Given the description of an element on the screen output the (x, y) to click on. 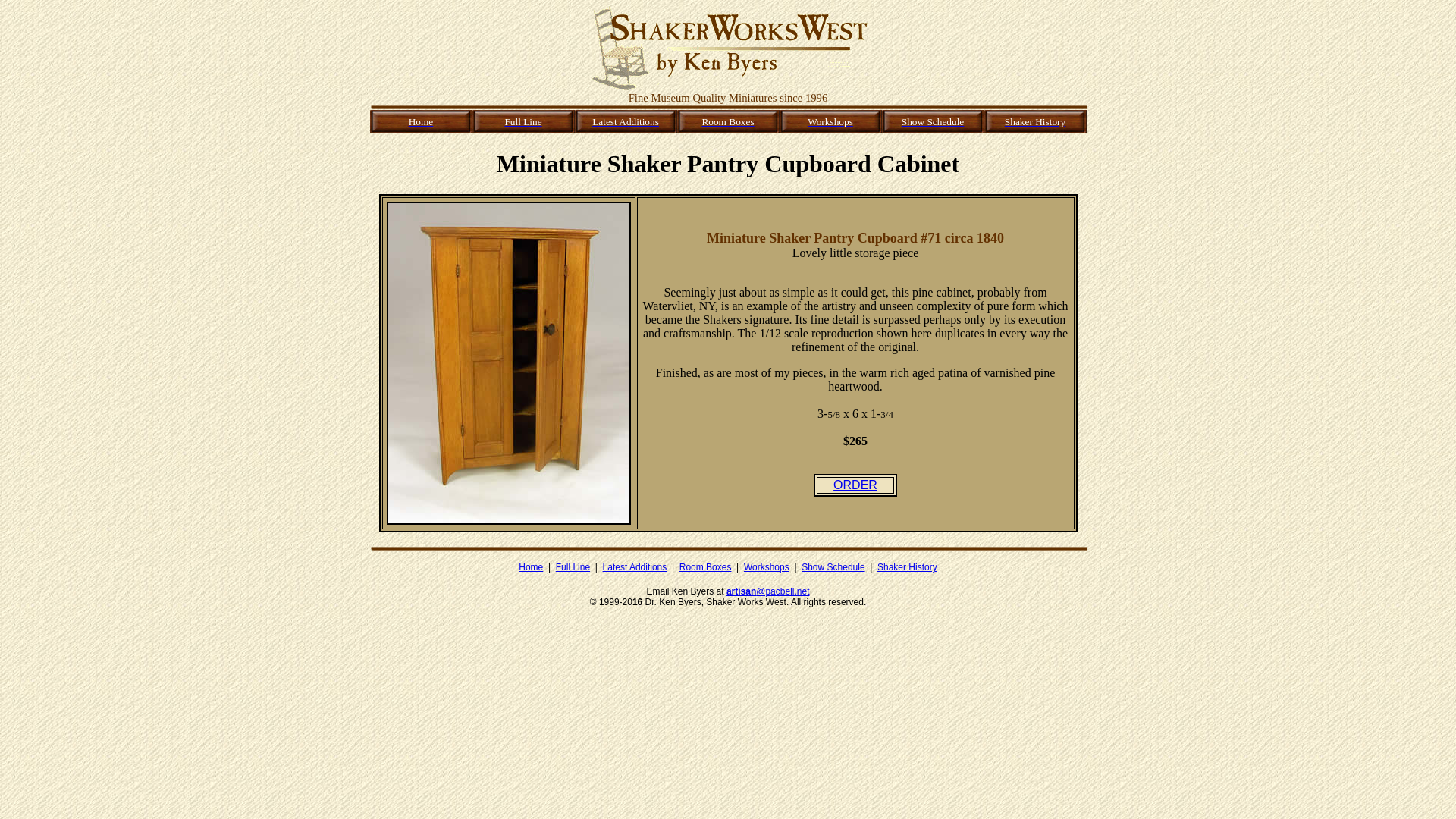
Full Line (522, 121)
ORDER (854, 484)
Shaker History (1034, 121)
Show Schedule (833, 566)
Show Schedule (932, 121)
Workshops (766, 566)
Home (421, 121)
Latest Additions (625, 121)
Workshops (830, 121)
Home (530, 566)
Full Line (572, 566)
Room Boxes (705, 566)
Latest Additions (634, 566)
Shaker History (907, 566)
Room Boxes (727, 121)
